Given the description of an element on the screen output the (x, y) to click on. 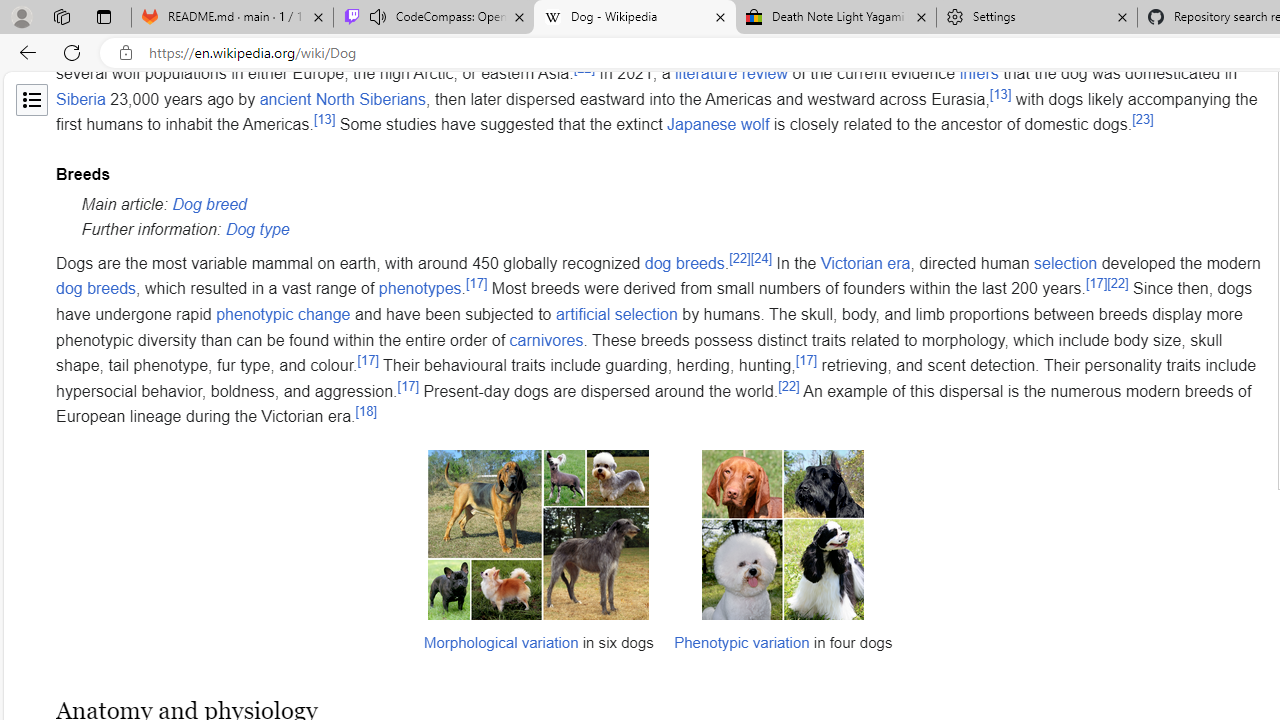
[22] (789, 385)
Phenotypic variation in four dogs (782, 534)
[23] (1142, 120)
[17] (407, 385)
Morphological variation in six dogs (537, 534)
Phenotypic variation in four dogs (783, 534)
Morphological variation in six dogs (538, 559)
Mute tab (377, 16)
Morphological variation (500, 641)
carnivores (546, 340)
dog breeds (96, 289)
